Given the description of an element on the screen output the (x, y) to click on. 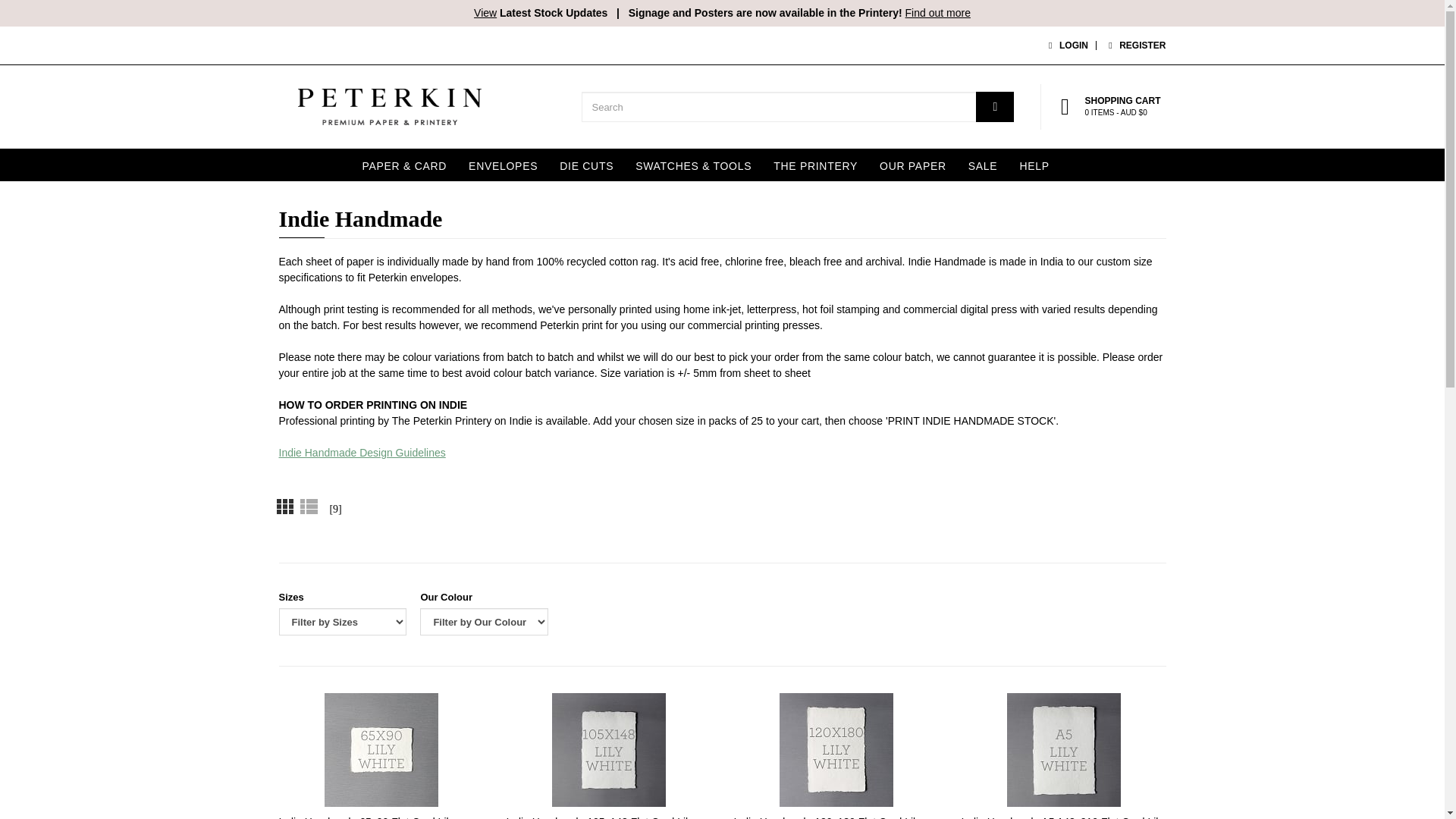
View Latest Stock Updates (540, 12)
LOGIN (1065, 45)
REGISTER (1134, 45)
Find out more (938, 12)
